Given the description of an element on the screen output the (x, y) to click on. 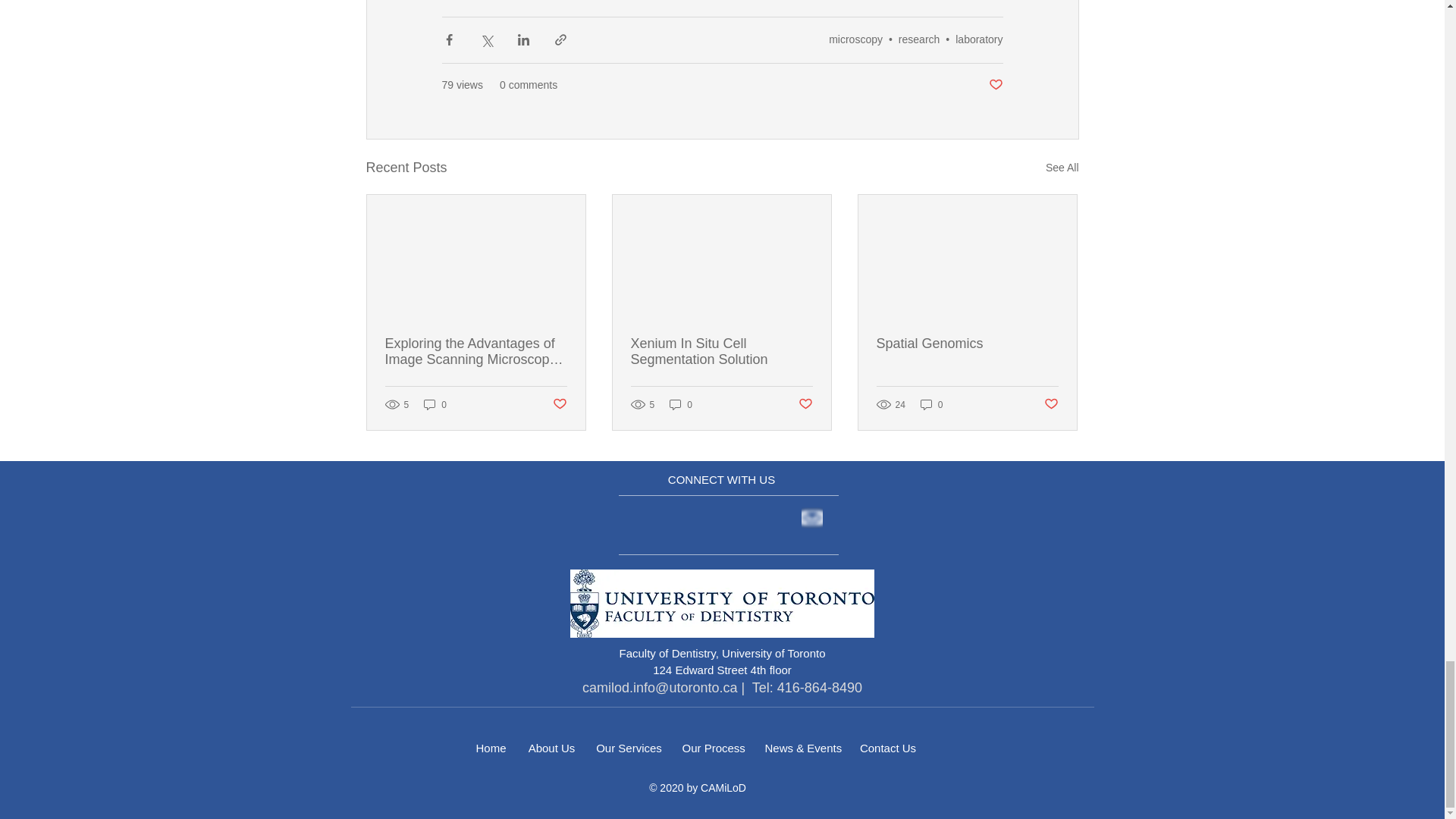
laboratory (979, 39)
research (918, 39)
microscopy (855, 39)
See All (1061, 168)
Post not marked as liked (995, 84)
